Given the description of an element on the screen output the (x, y) to click on. 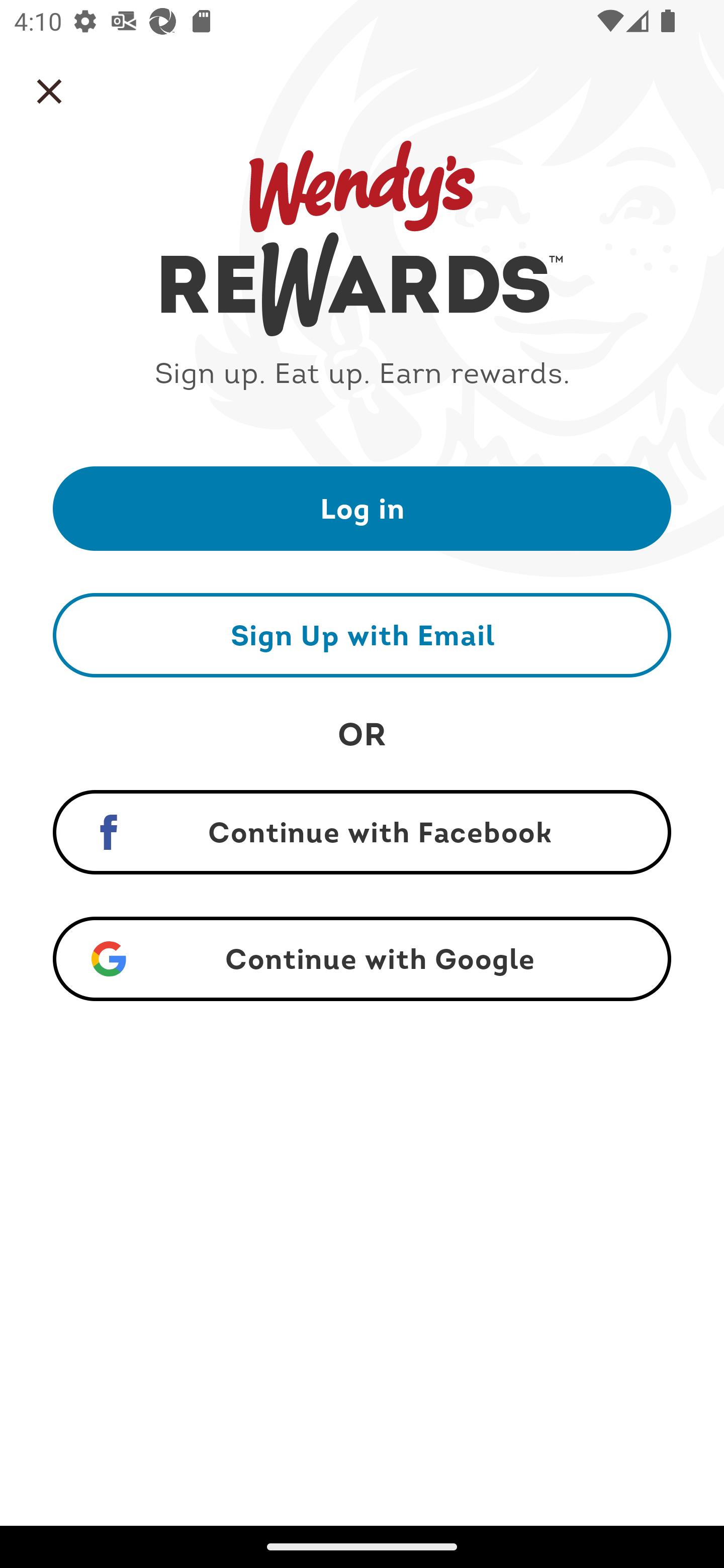
close (49, 91)
Log in (361, 507)
Sign Up with Email (361, 634)
Continue with Facebook (361, 832)
Continue with Google (361, 958)
